Given the description of an element on the screen output the (x, y) to click on. 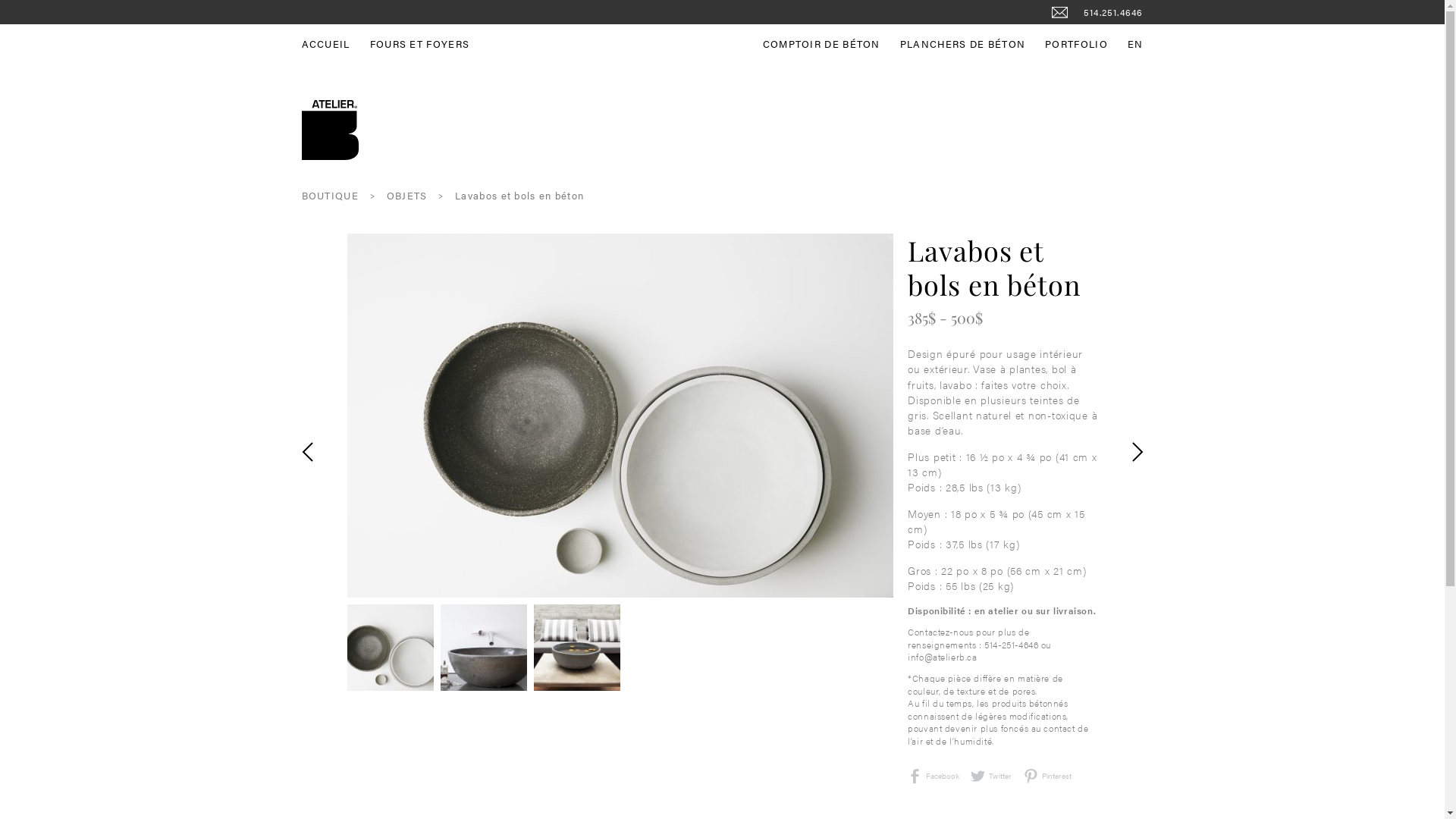
Logo d'AtelierB Element type: hover (329, 130)
ACCUEIL Element type: text (335, 43)
514.251.4646 Element type: text (1112, 12)
OBJETS Element type: text (406, 195)
EN Element type: text (1135, 43)
BOUTIQUE Element type: text (329, 195)
Facebook Element type: text (933, 776)
Twitter Element type: text (990, 776)
FOURS ET FOYERS Element type: text (429, 43)
Pinterest Element type: text (1047, 776)
PORTFOLIO Element type: text (1085, 43)
Marches StepOp Element type: text (319, 441)
